Given the description of an element on the screen output the (x, y) to click on. 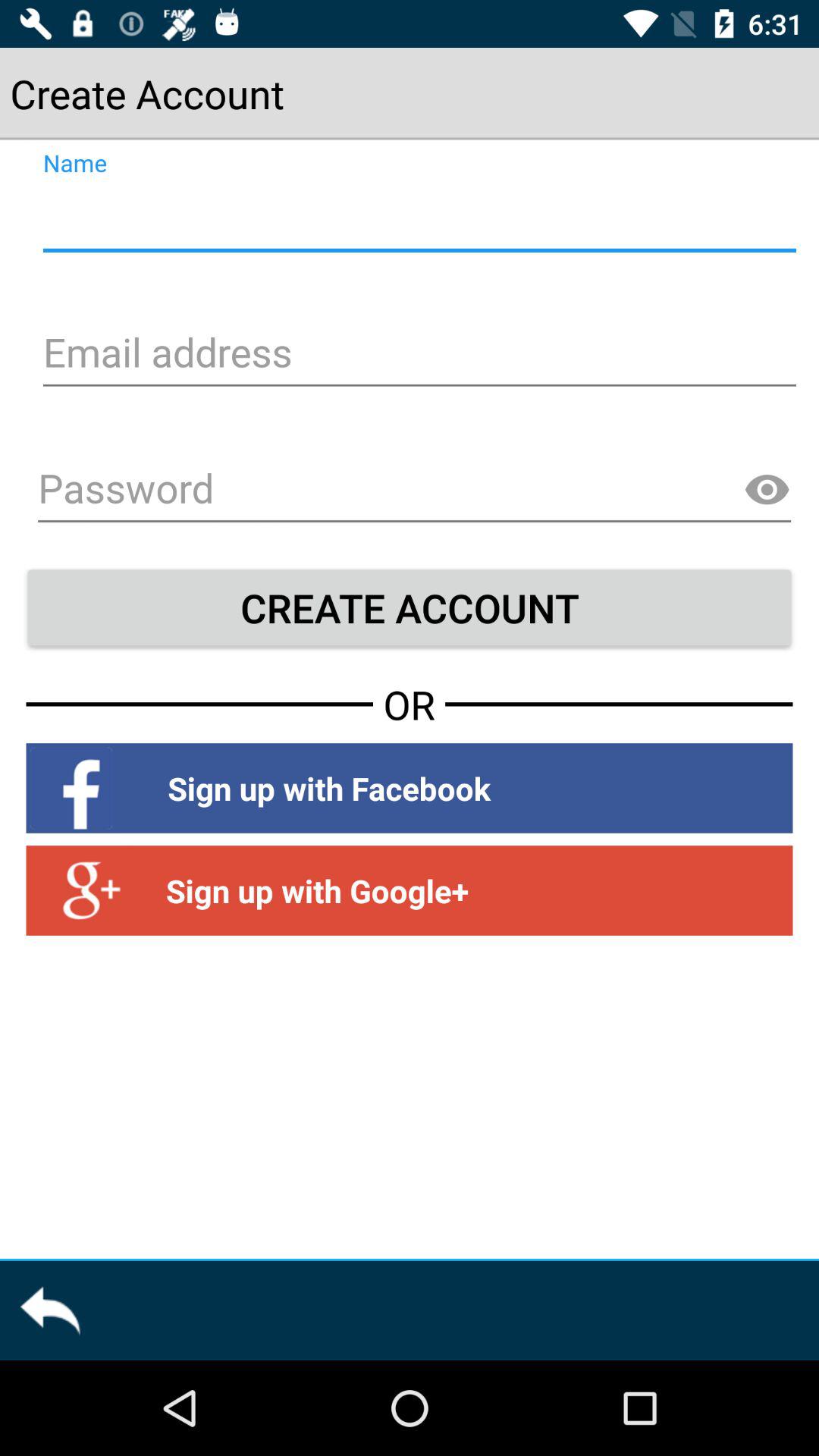
type email address (417, 354)
